Given the description of an element on the screen output the (x, y) to click on. 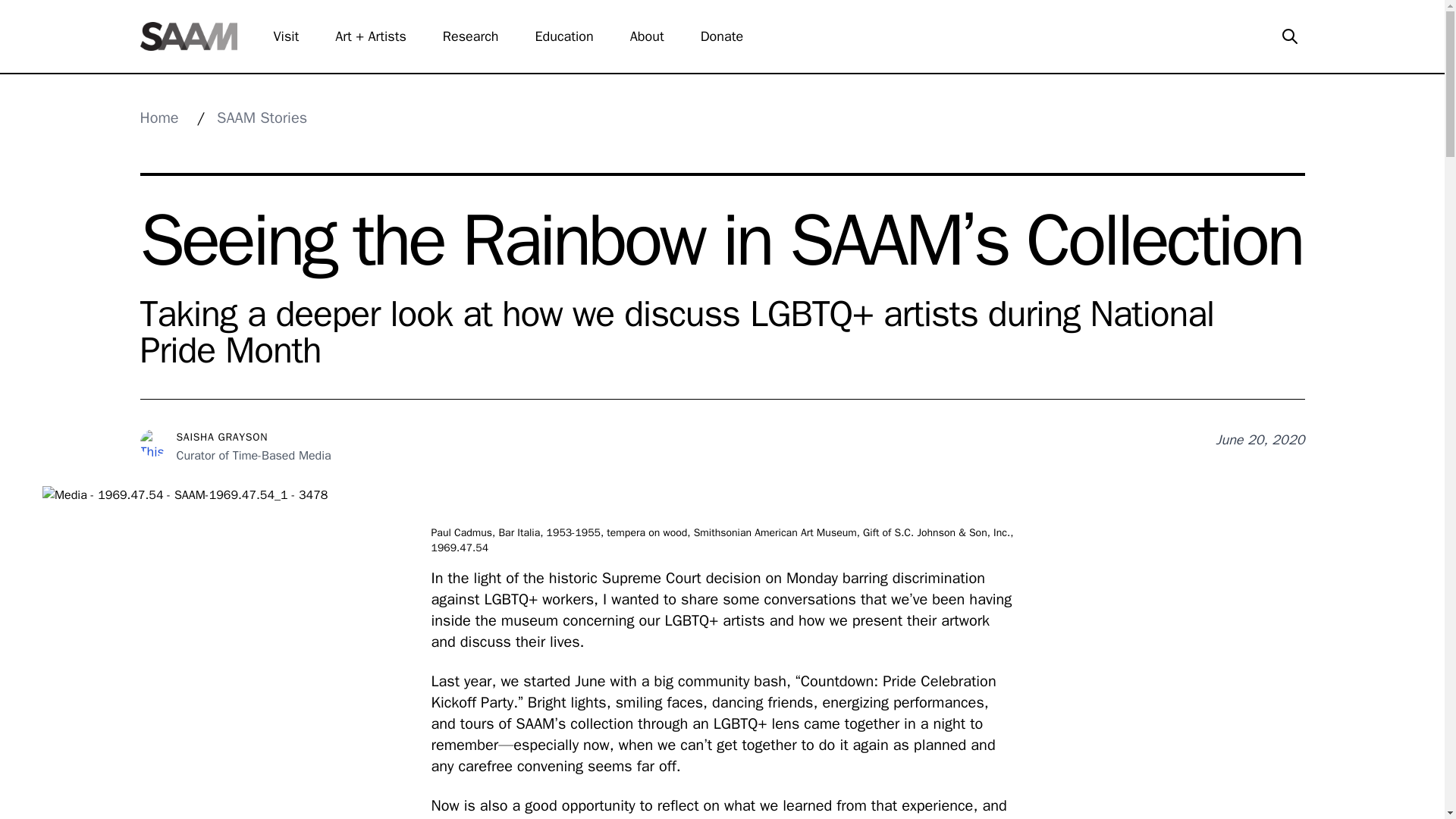
About (656, 35)
Education (572, 35)
Research (479, 35)
Visit (295, 35)
Donate (730, 35)
